Given the description of an element on the screen output the (x, y) to click on. 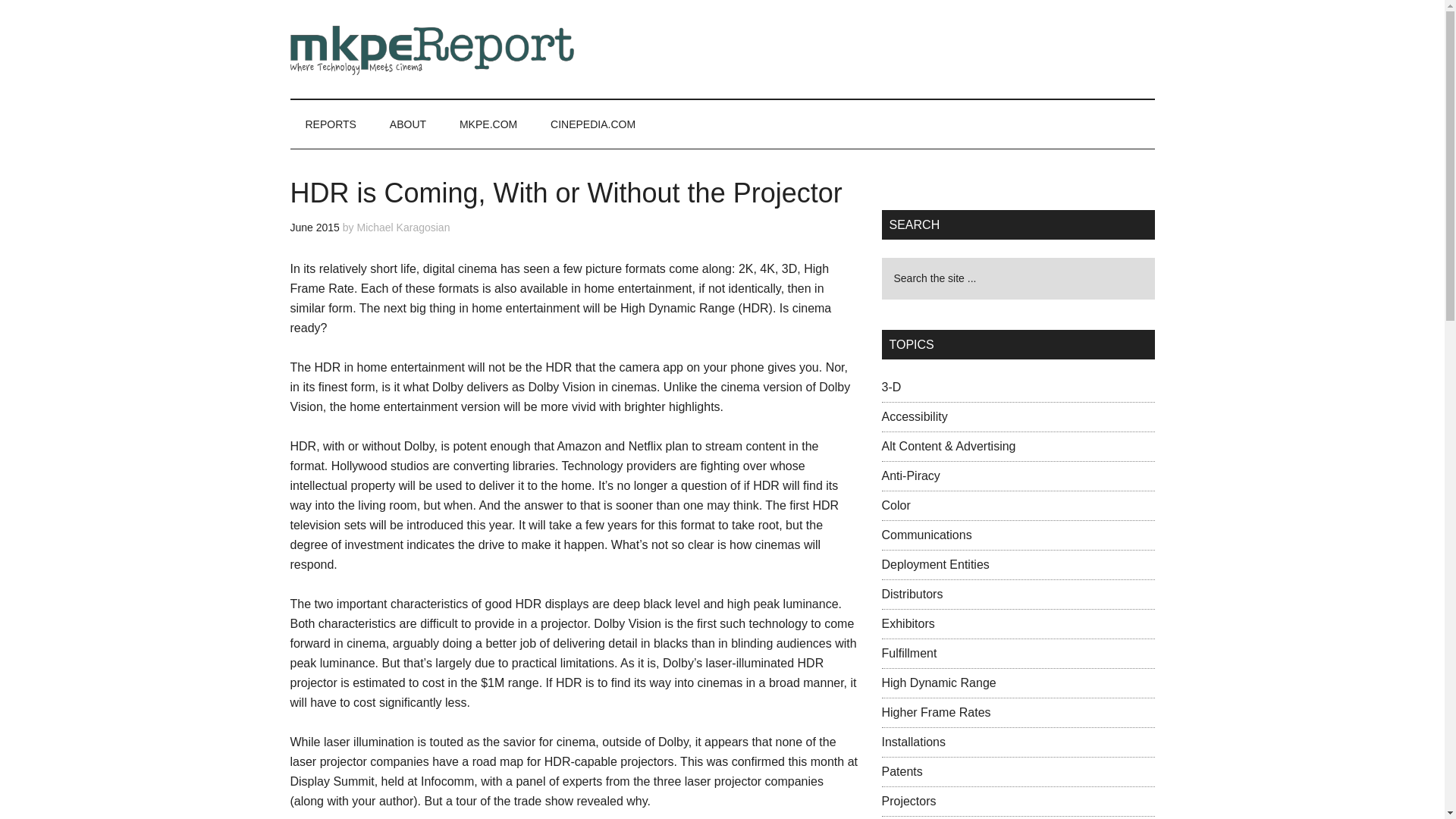
mkpeReport (433, 49)
Communications (925, 534)
Installations (912, 741)
CINEPEDIA.COM (592, 123)
Distributors (911, 594)
High Dynamic Range (937, 682)
Higher Frame Rates (935, 712)
Fulfillment (908, 653)
Projectors (908, 800)
MKPE.COM (488, 123)
Color (895, 504)
REPORTS (330, 123)
Accessibility (913, 416)
